Given the description of an element on the screen output the (x, y) to click on. 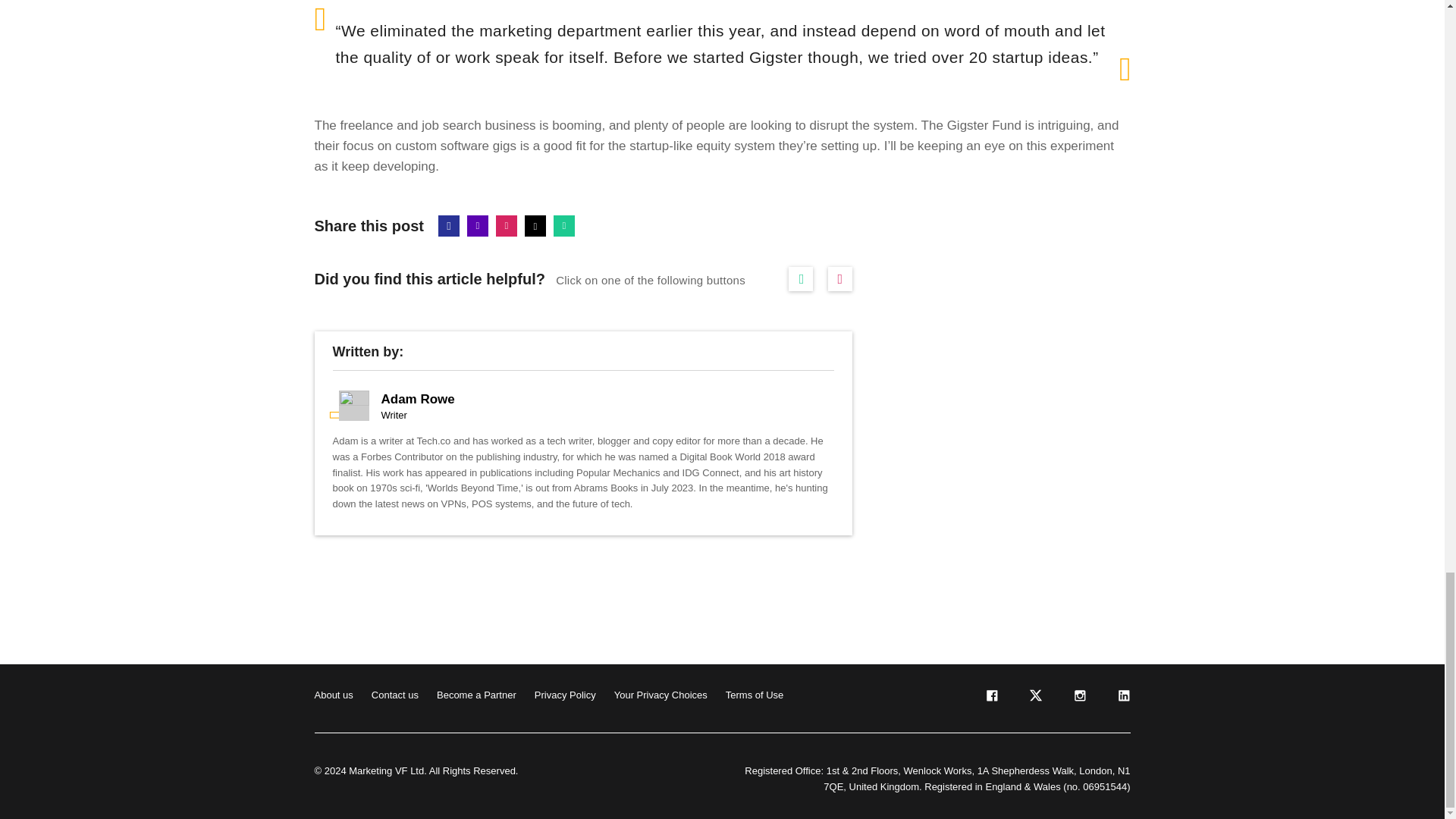
Flipboard (506, 225)
Linkedin (477, 225)
Facebook (449, 225)
Whatsapp (564, 225)
facebook (990, 698)
Twitter-x (535, 225)
linkedin (1122, 698)
twitter-x (1034, 698)
instagram (1078, 698)
